Given the description of an element on the screen output the (x, y) to click on. 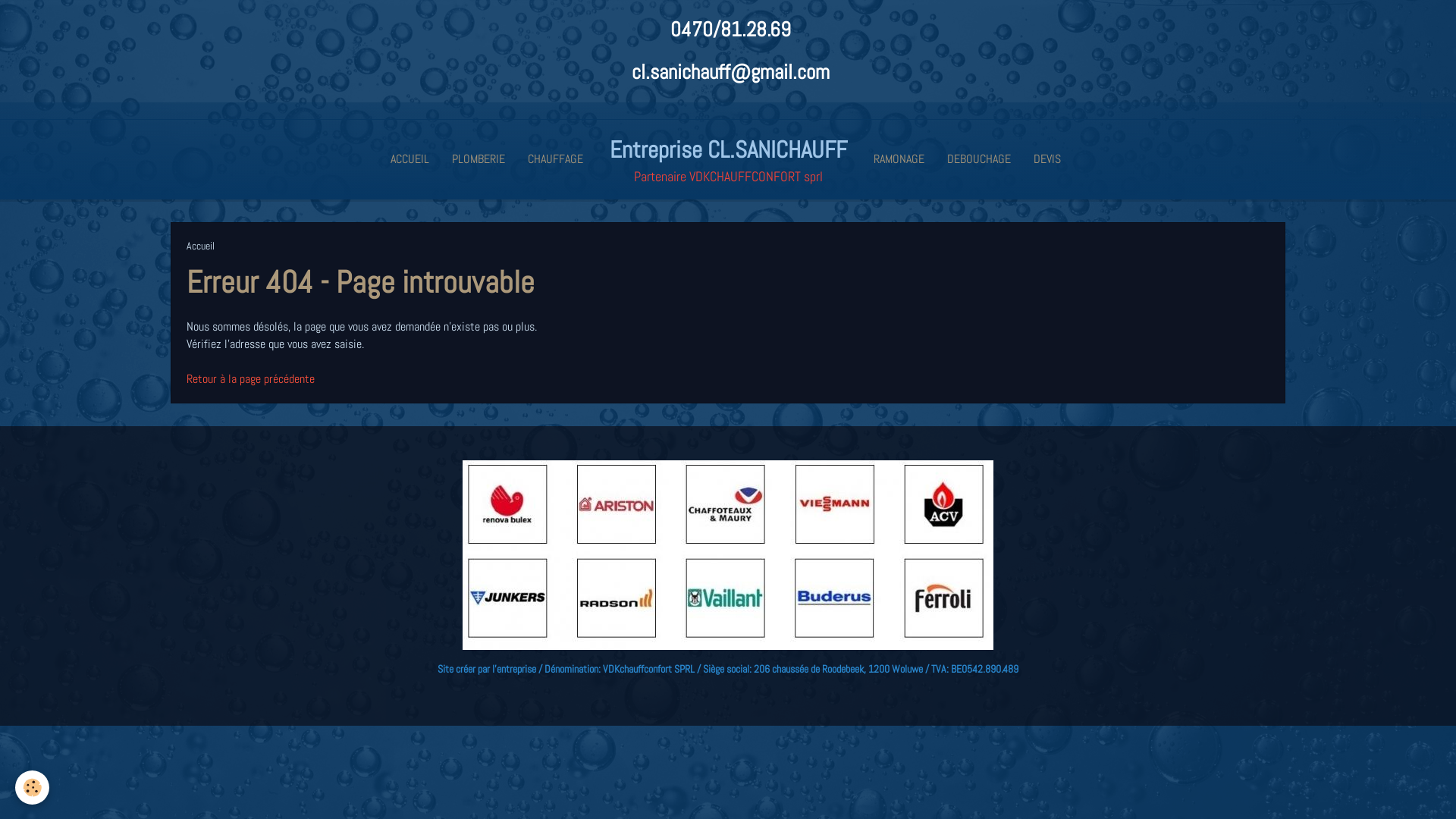
cl.sanichauff@gmail.com Element type: text (729, 71)
DEBOUCHAGE Element type: text (978, 159)
0470/81.28.69 Element type: text (730, 28)
RAMONAGE Element type: text (898, 159)
ACCUEIL Element type: text (409, 159)
DEVIS Element type: text (1047, 159)
PLOMBERIE Element type: text (477, 159)
Entreprise CL.SANICHAUFF
Partenaire VDKCHAUFFCONFORT sprl Element type: text (728, 159)
CHAUFFAGE Element type: text (554, 159)
